Given the description of an element on the screen output the (x, y) to click on. 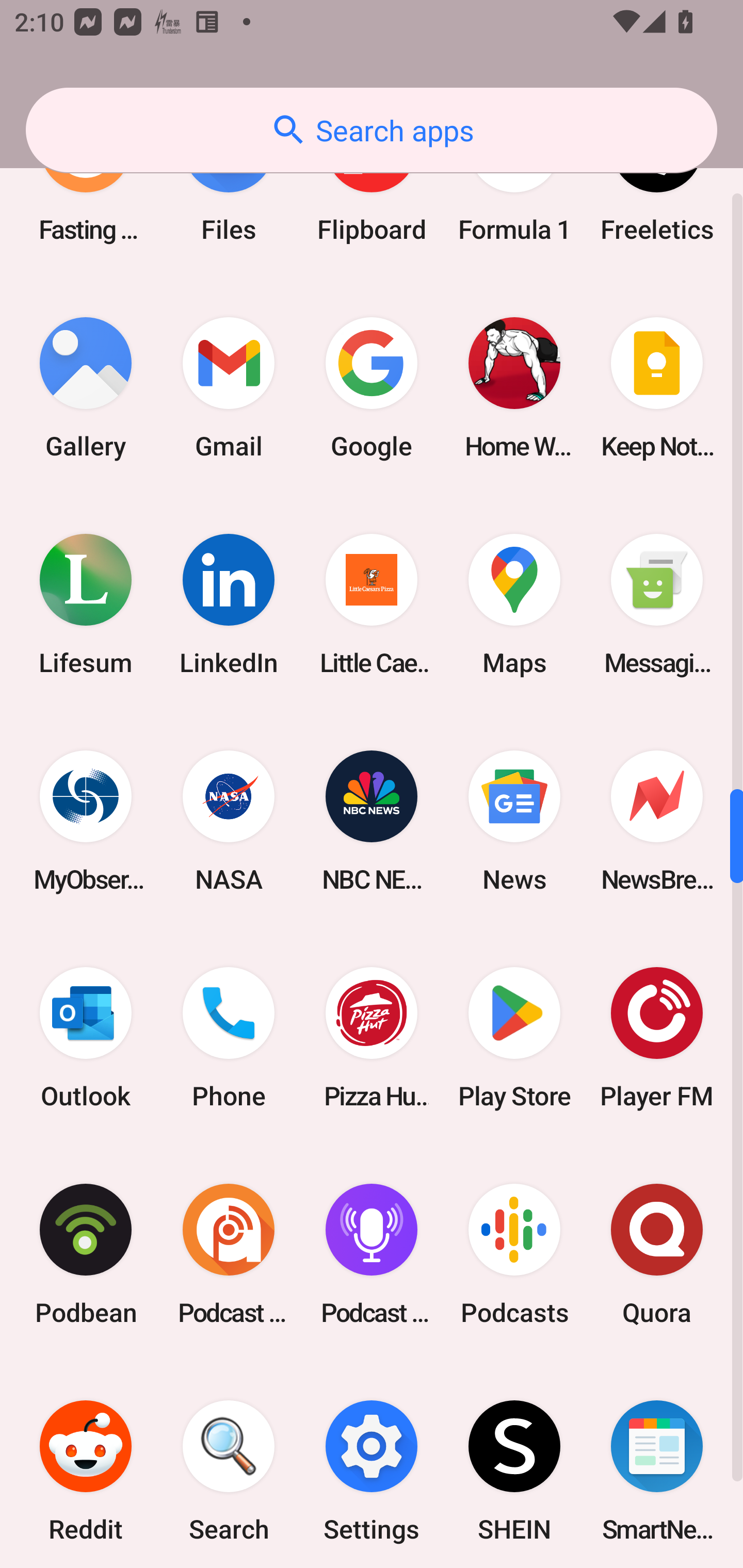
  Search apps (371, 130)
Gallery (85, 387)
Gmail (228, 387)
Google (371, 387)
Home Workout (514, 387)
Keep Notes (656, 387)
Lifesum (85, 604)
LinkedIn (228, 604)
Little Caesars Pizza (371, 604)
Maps (514, 604)
Messaging (656, 604)
MyObservatory (85, 821)
NASA (228, 821)
NBC NEWS (371, 821)
News (514, 821)
NewsBreak (656, 821)
Outlook (85, 1037)
Phone (228, 1037)
Pizza Hut HK & Macau (371, 1037)
Play Store (514, 1037)
Player FM (656, 1037)
Podbean (85, 1254)
Podcast Addict (228, 1254)
Podcast Player (371, 1254)
Podcasts (514, 1254)
Quora (656, 1254)
Reddit (85, 1465)
Search (228, 1465)
Settings (371, 1465)
SHEIN (514, 1465)
SmartNews (656, 1465)
